Given the description of an element on the screen output the (x, y) to click on. 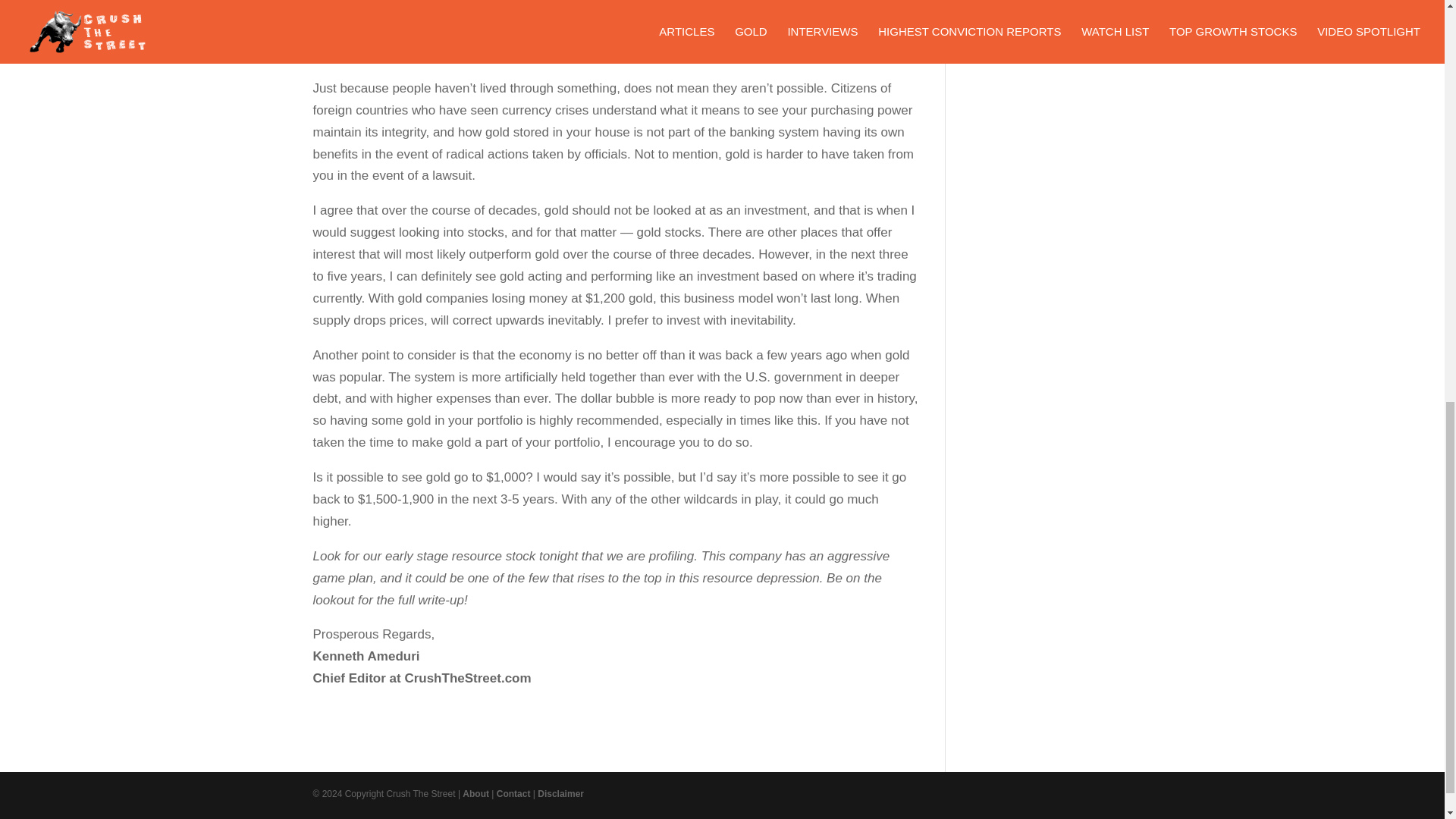
Disclaimer (560, 793)
About (476, 793)
Contact (513, 793)
